Given the description of an element on the screen output the (x, y) to click on. 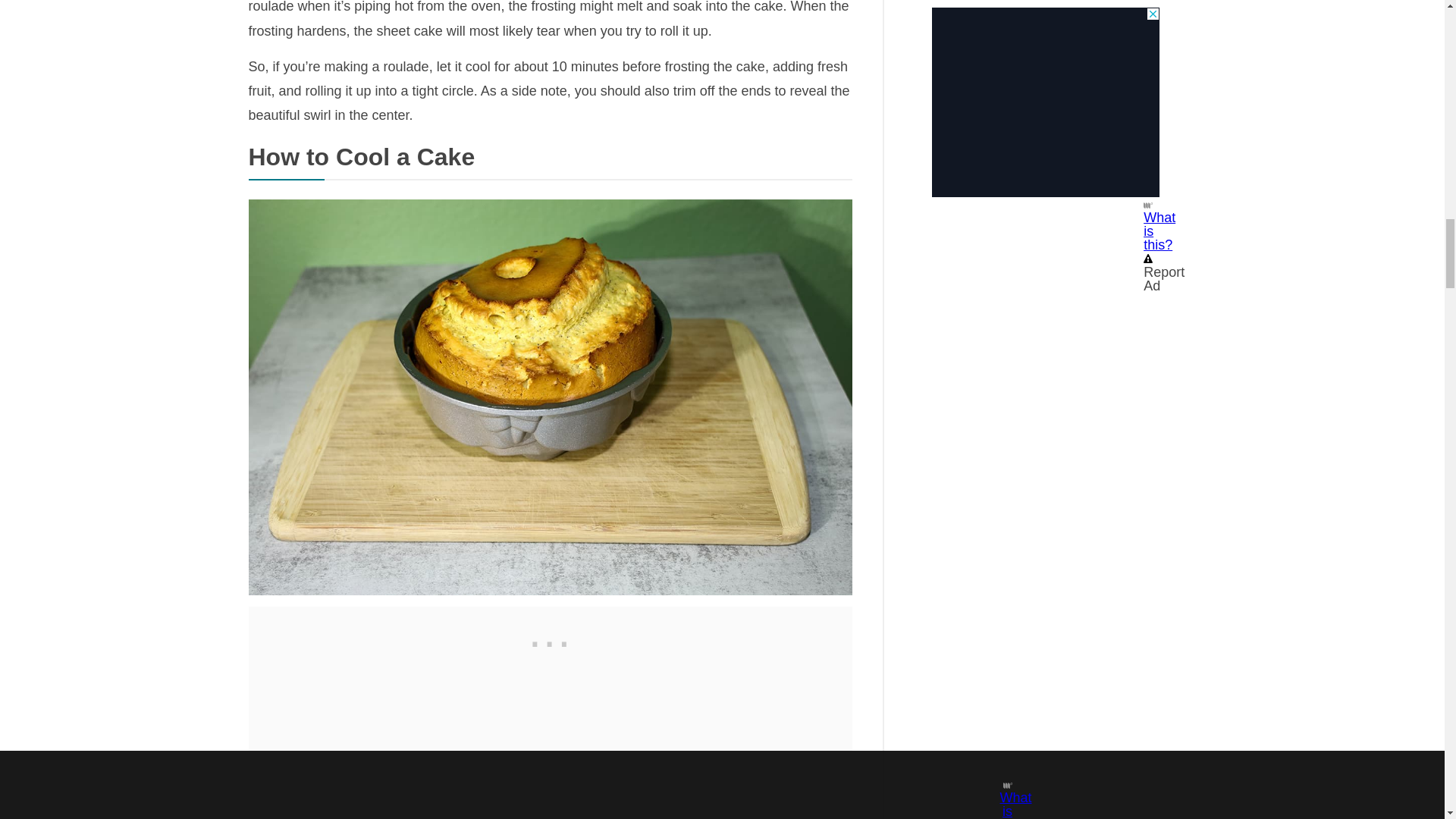
3rd party ad content (551, 640)
